Given the description of an element on the screen output the (x, y) to click on. 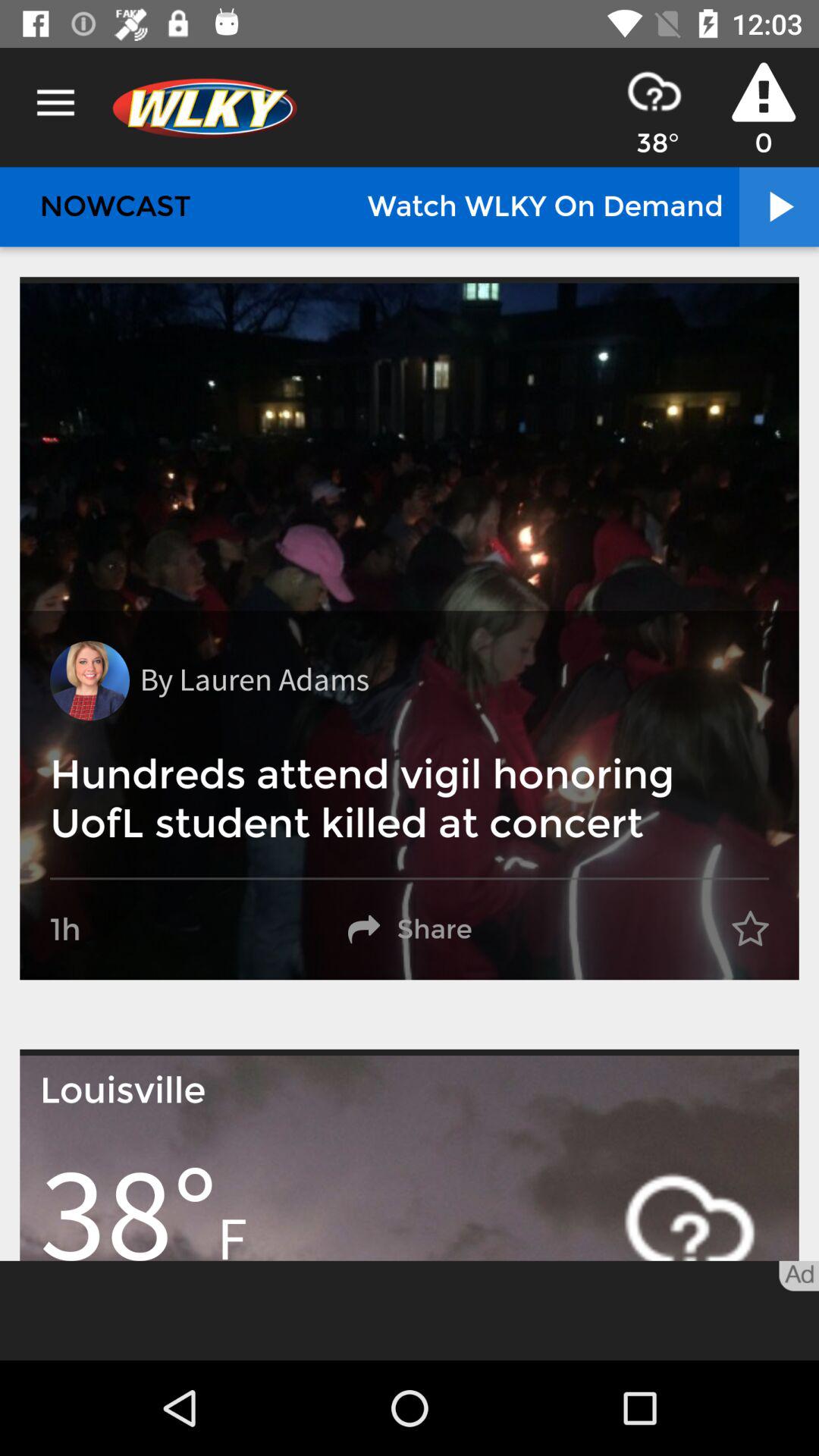
click on the advertisement (409, 1310)
